Given the description of an element on the screen output the (x, y) to click on. 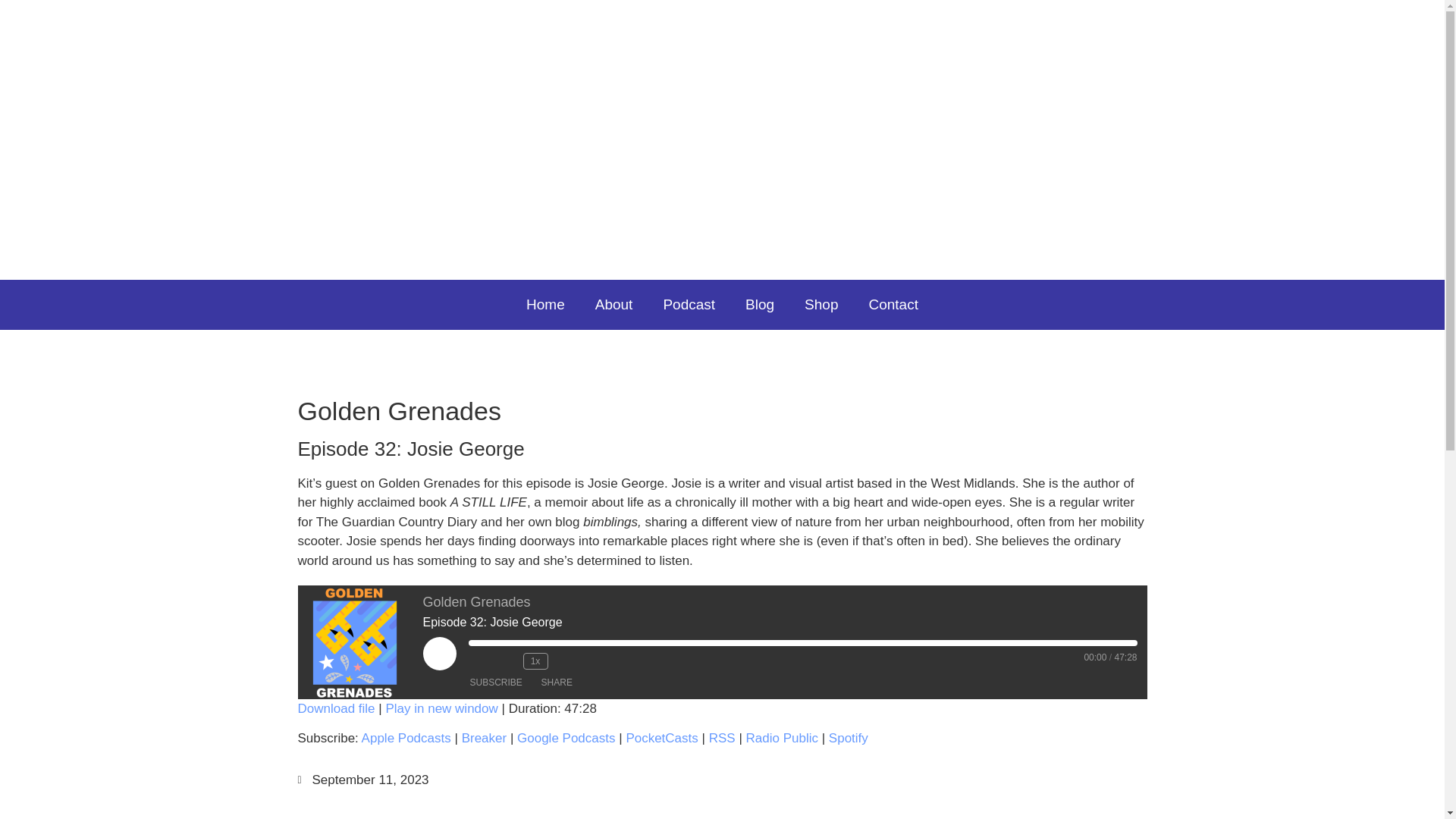
Apple Podcasts (406, 738)
PocketCasts (661, 738)
Shop (821, 304)
About (613, 304)
SUBSCRIBE (496, 682)
Subscribe (496, 682)
Download file (335, 708)
Share (556, 682)
1x (535, 660)
Breaker (483, 738)
Home (545, 304)
Google Podcasts (565, 738)
Playback Speed (535, 660)
Rewind 10 seconds (507, 661)
